Given the description of an element on the screen output the (x, y) to click on. 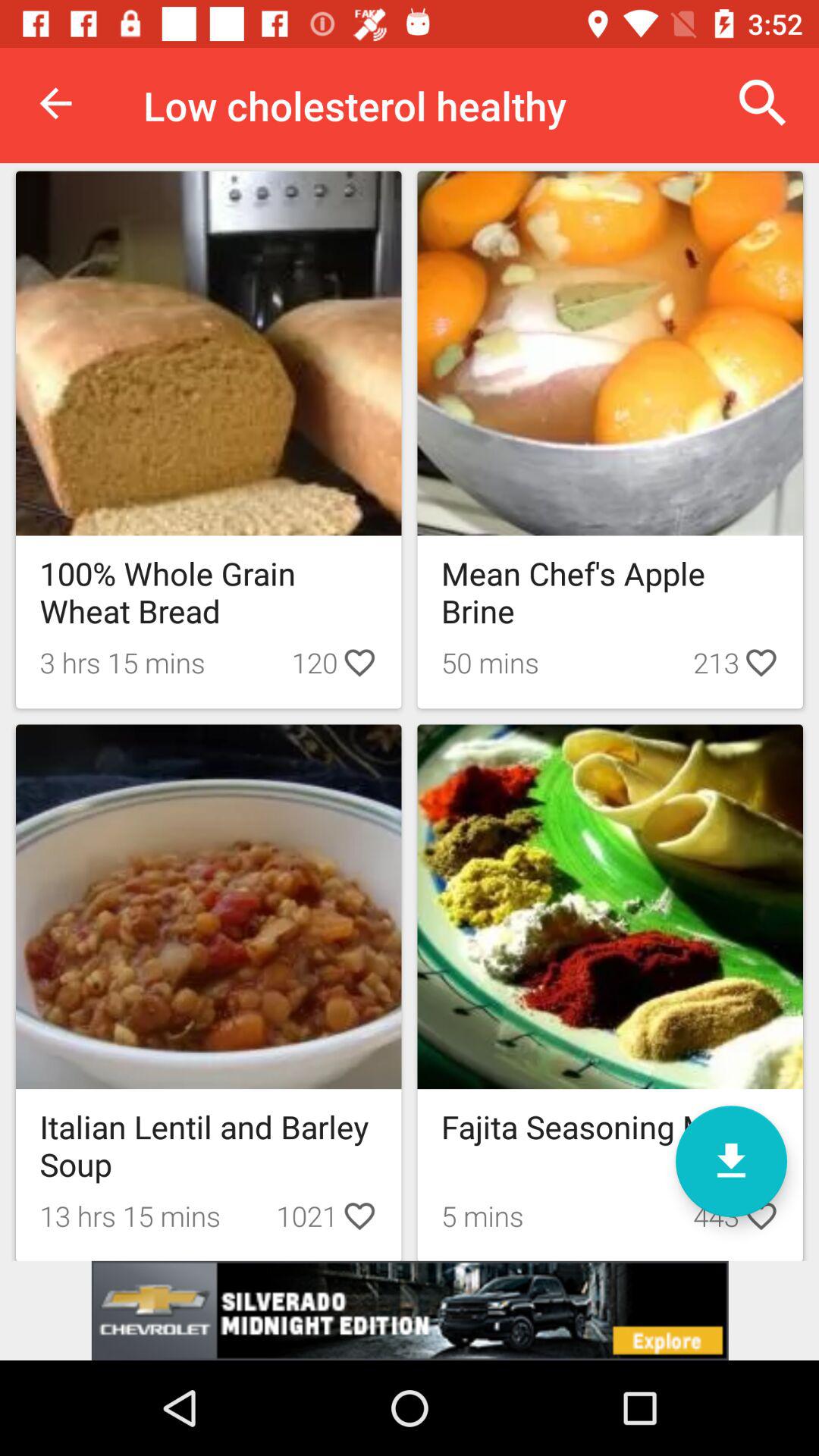
dounload option (731, 1161)
